Given the description of an element on the screen output the (x, y) to click on. 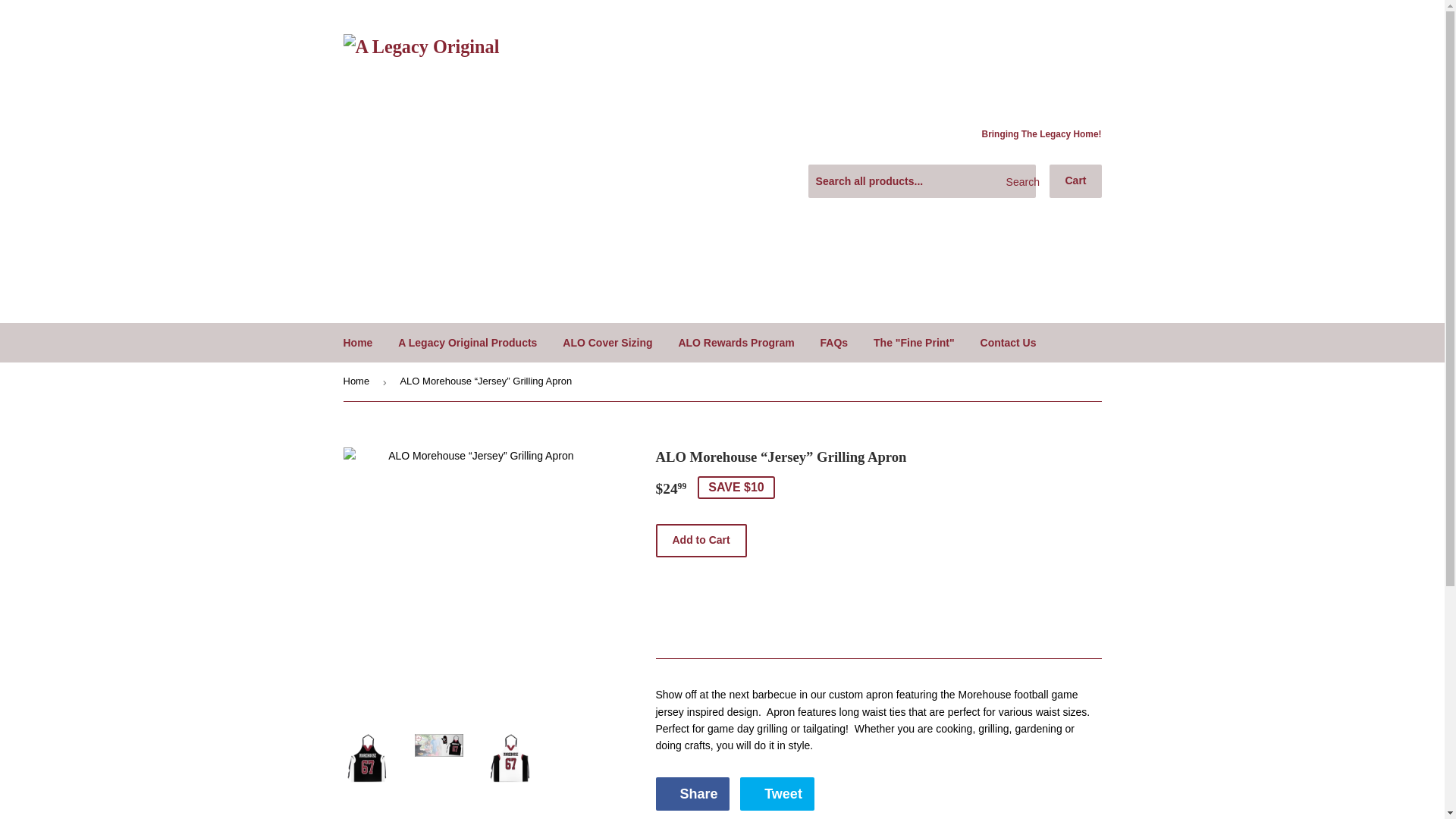
A Legacy Original Products (776, 793)
Bringing The Legacy Home! (467, 342)
Cart (1041, 134)
Share on Facebook (1074, 181)
The "Fine Print" (692, 793)
Search (913, 342)
Tweet on Twitter (1018, 182)
ALO Rewards Program (776, 793)
Home (735, 342)
